Given the description of an element on the screen output the (x, y) to click on. 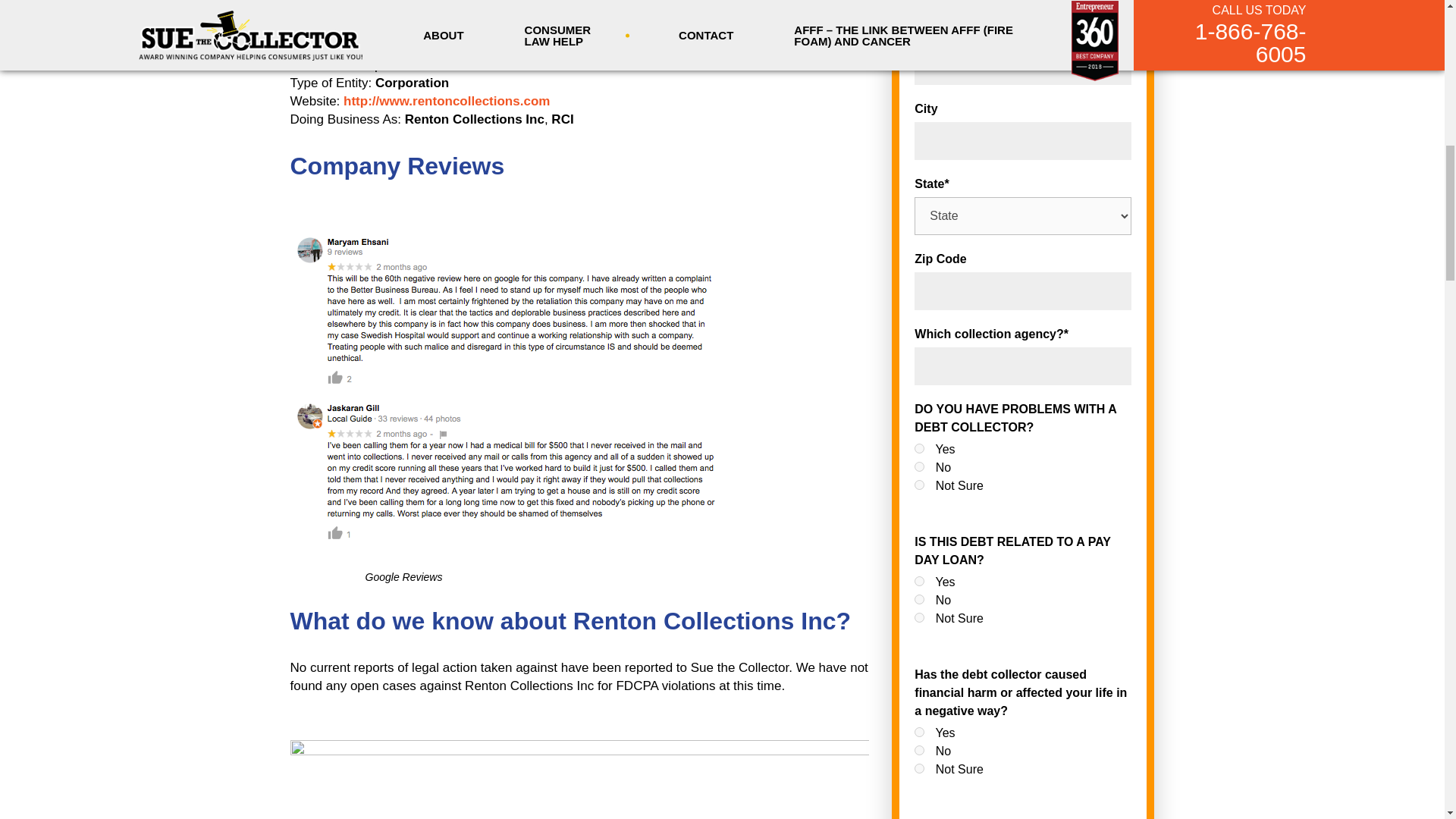
Yes (919, 581)
Not Sure (919, 484)
Not Sure (919, 617)
No (919, 750)
Yes (919, 448)
No (919, 466)
Not Sure (919, 768)
No (919, 599)
Yes (919, 732)
